Given the description of an element on the screen output the (x, y) to click on. 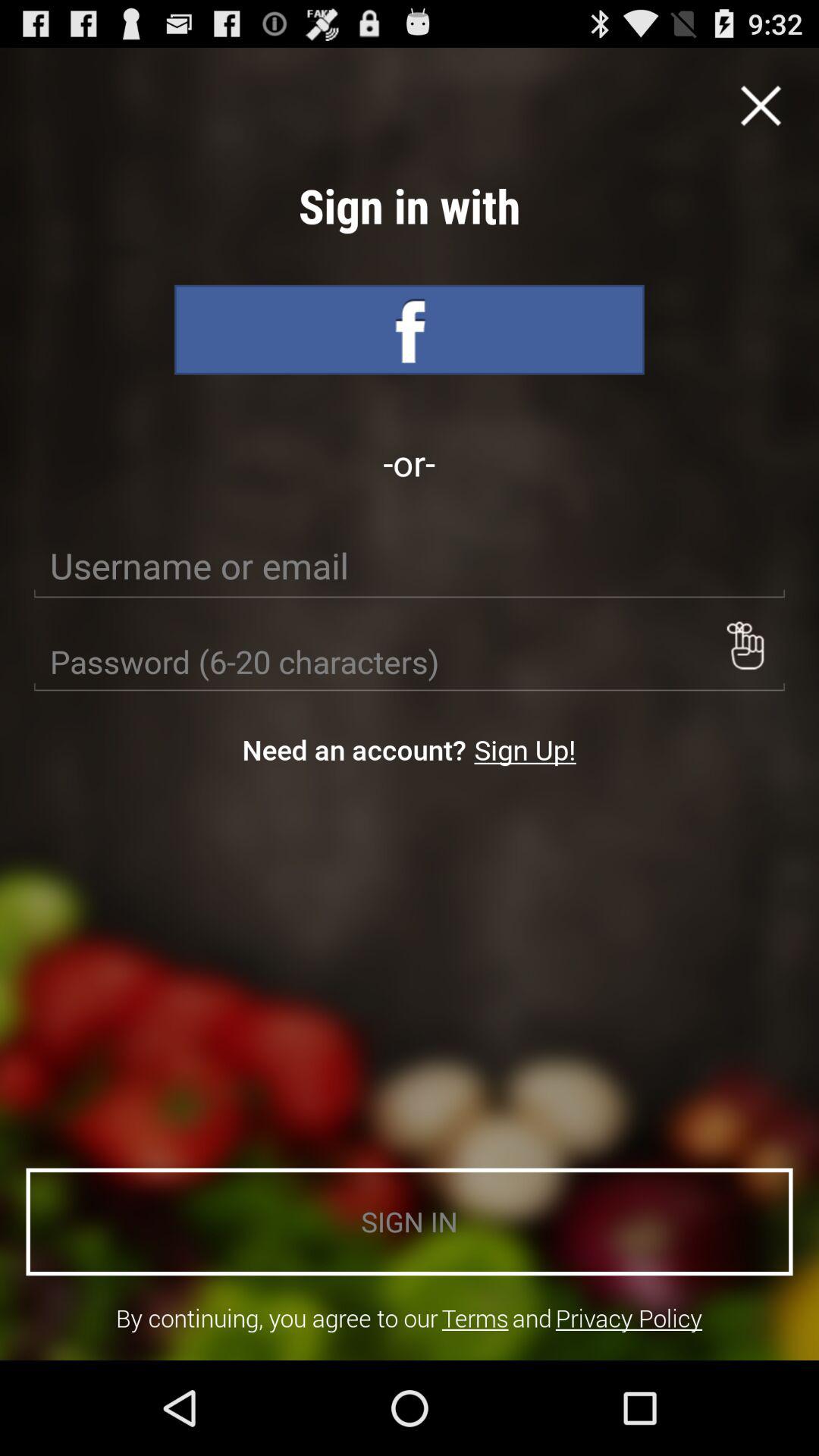
open the item next to and icon (628, 1317)
